Given the description of an element on the screen output the (x, y) to click on. 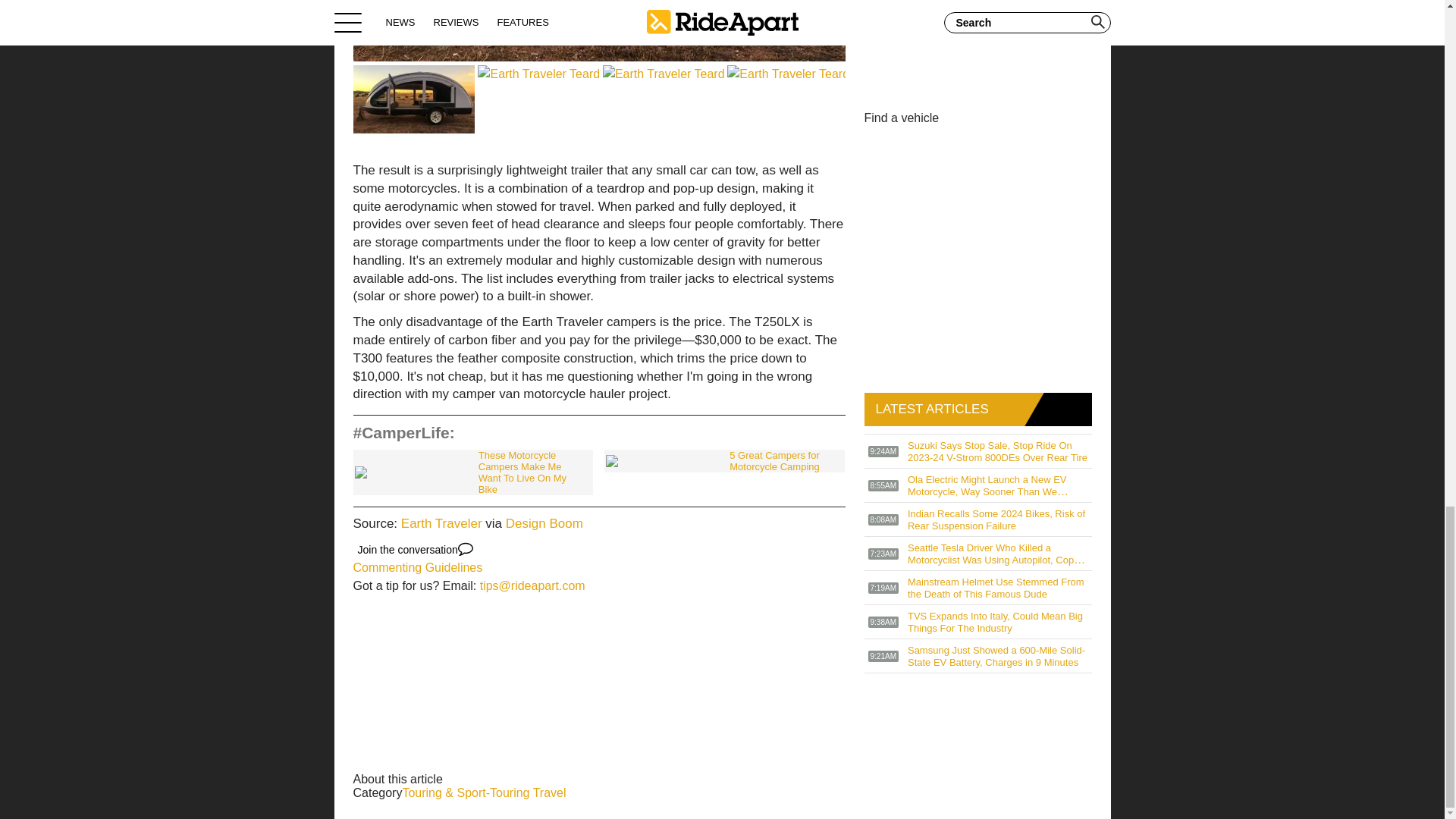
Design Boom (544, 523)
Join the conversation (415, 549)
These Motorcycle Campers Make Me Want To Live On My Bike (473, 472)
5 Great Campers for Motorcycle Camping (724, 460)
Commenting Guidelines (418, 567)
Earth Traveler (441, 523)
